Given the description of an element on the screen output the (x, y) to click on. 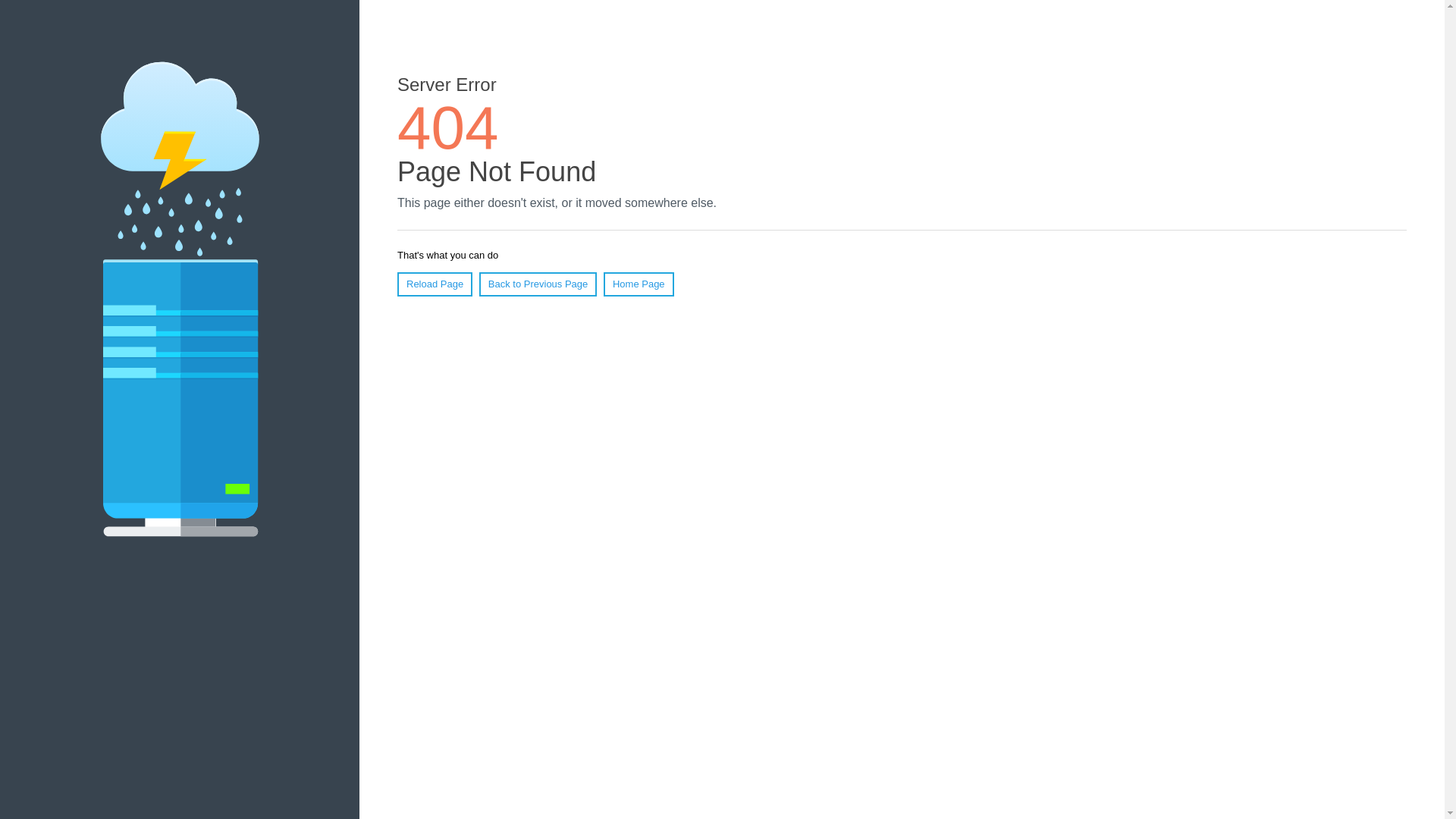
Home Page Element type: text (638, 284)
Back to Previous Page Element type: text (538, 284)
Reload Page Element type: text (434, 284)
